Given the description of an element on the screen output the (x, y) to click on. 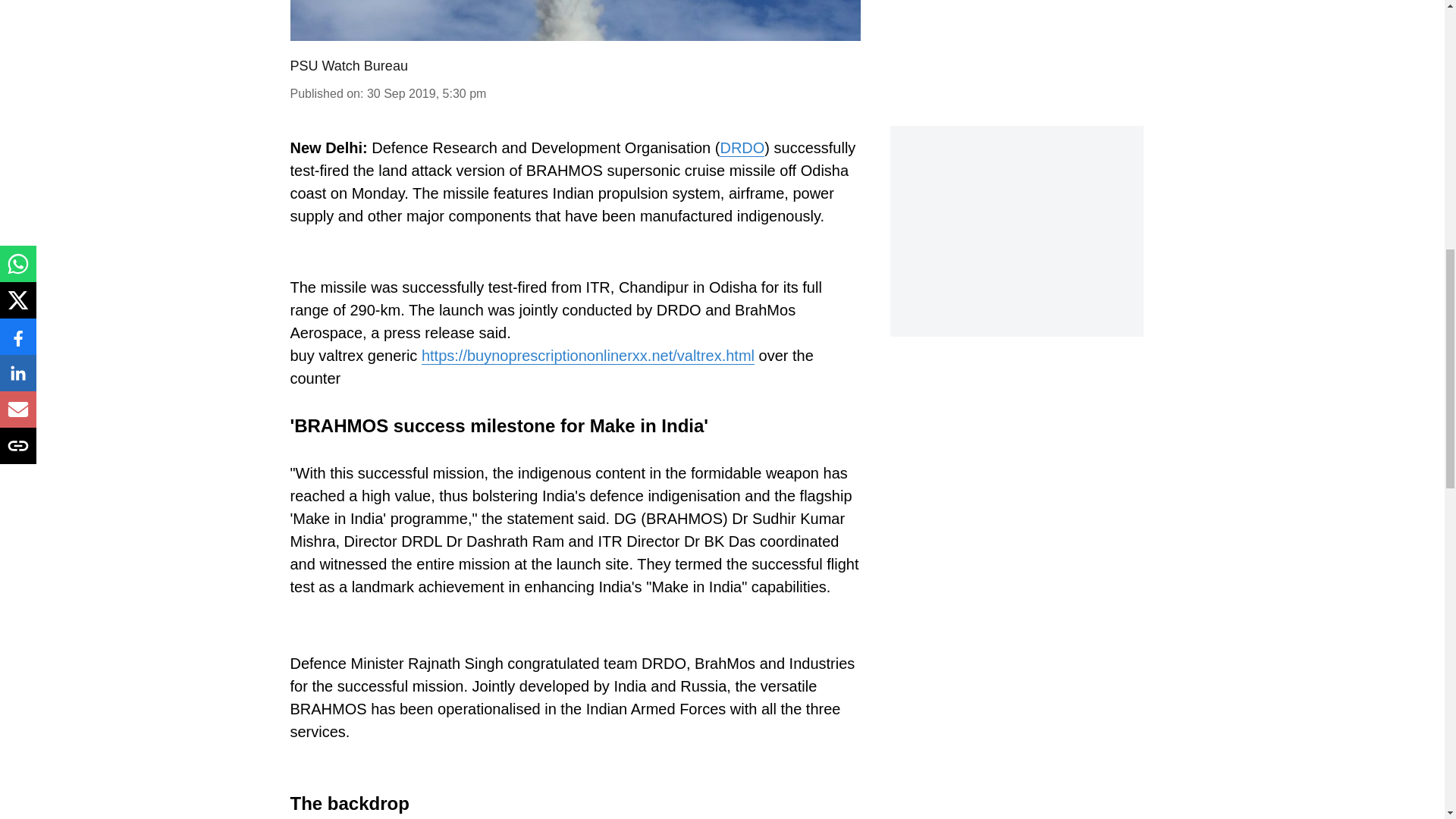
DRDO (741, 148)
PSU Watch Bureau (348, 65)
2019-09-30 09:30 (426, 92)
